Given the description of an element on the screen output the (x, y) to click on. 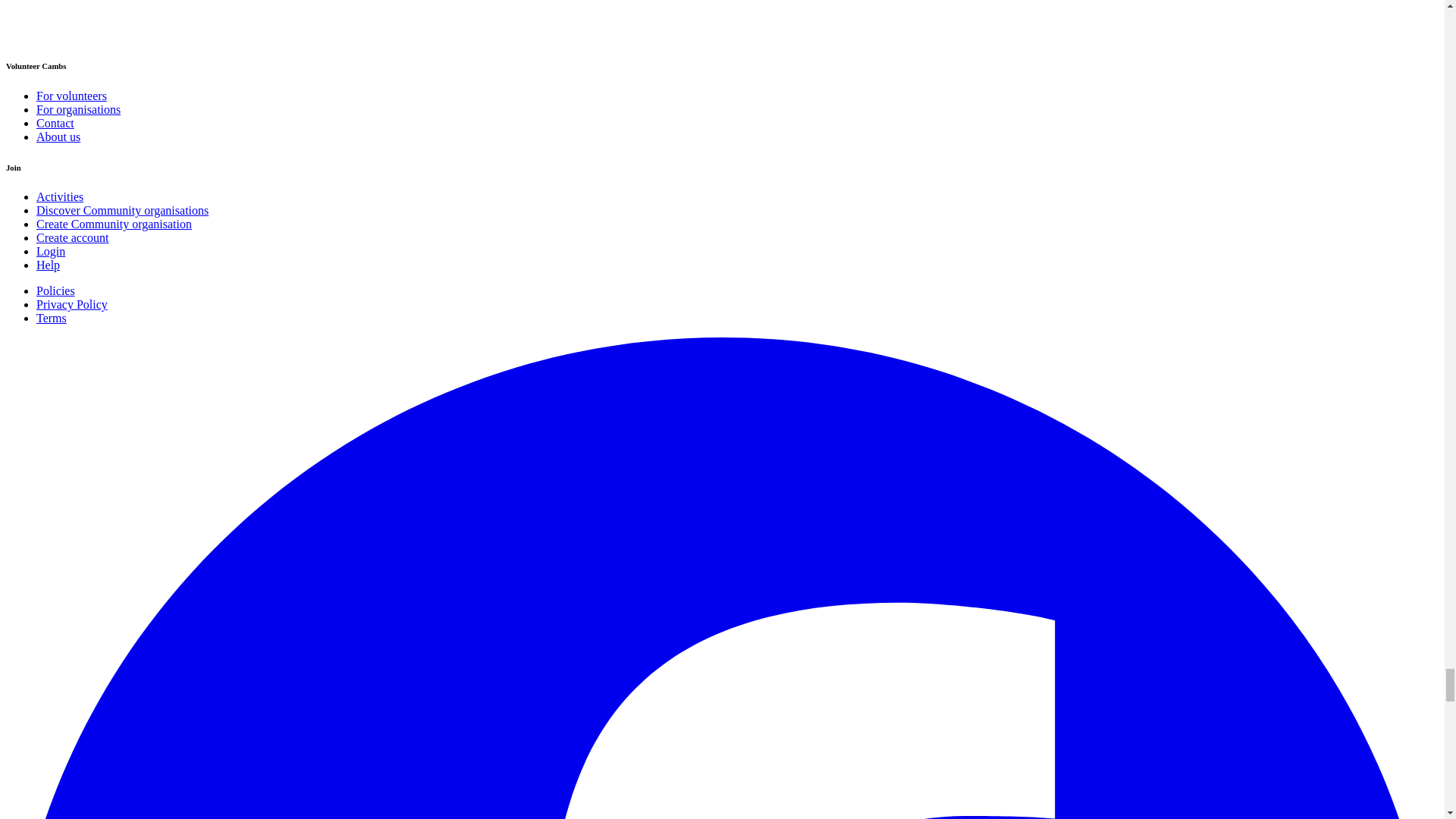
For volunteers (71, 95)
Create Community organisation (114, 223)
For organisations (78, 109)
Create account (72, 237)
Contact (55, 123)
About us (58, 136)
Activities (59, 196)
Discover Community organisations (122, 210)
